Given the description of an element on the screen output the (x, y) to click on. 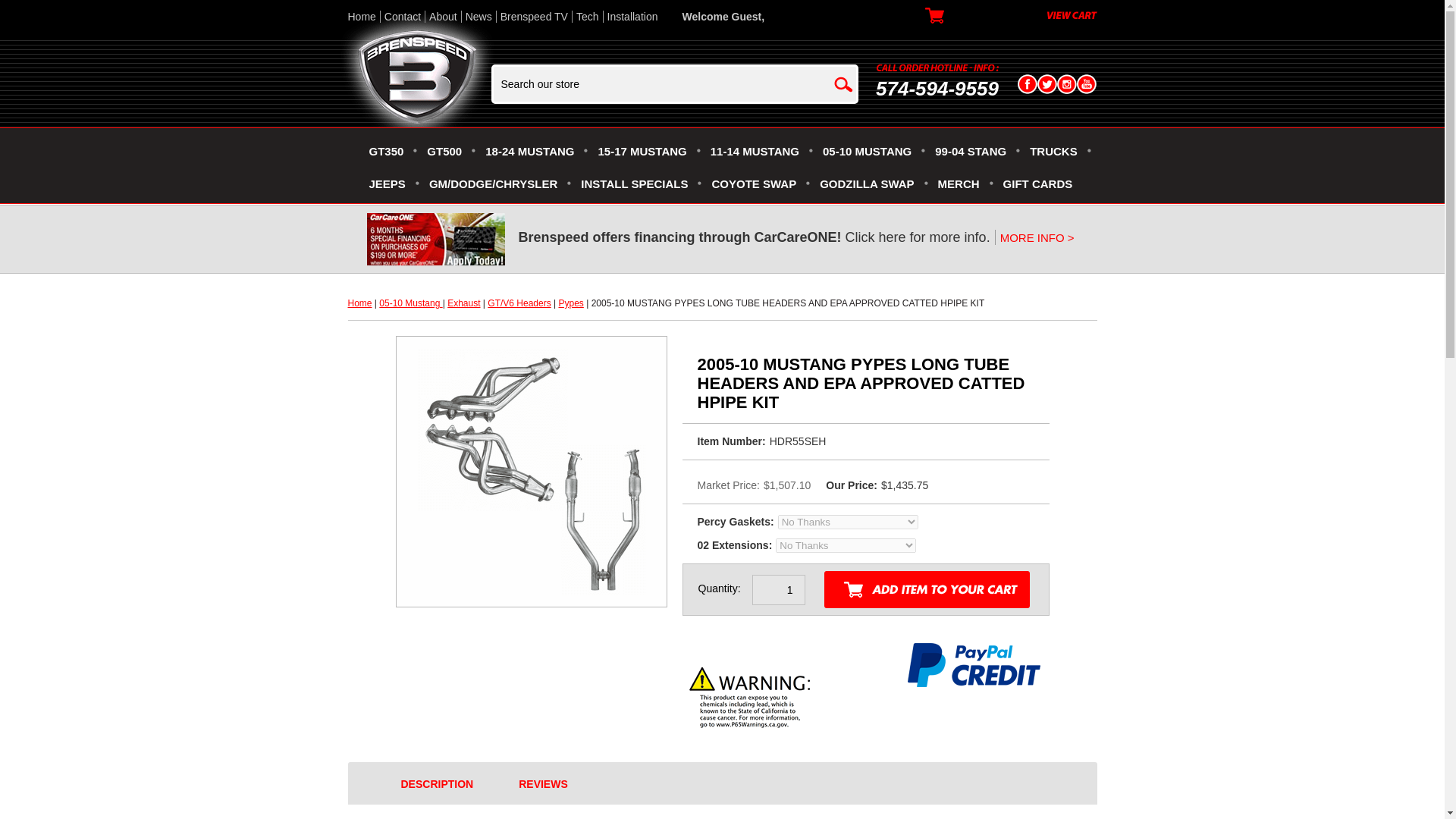
Home (362, 16)
Prop65Warning (750, 701)
Installation (632, 16)
GT500 (443, 154)
Instagram (1067, 84)
Go (843, 83)
GT350 (385, 154)
1 (778, 589)
YouTube (1086, 84)
About (443, 16)
Tech (587, 16)
Search our store (662, 83)
Brenspeed TV (534, 16)
Go (843, 83)
Call Order Hotline - Info: (937, 67)
